Given the description of an element on the screen output the (x, y) to click on. 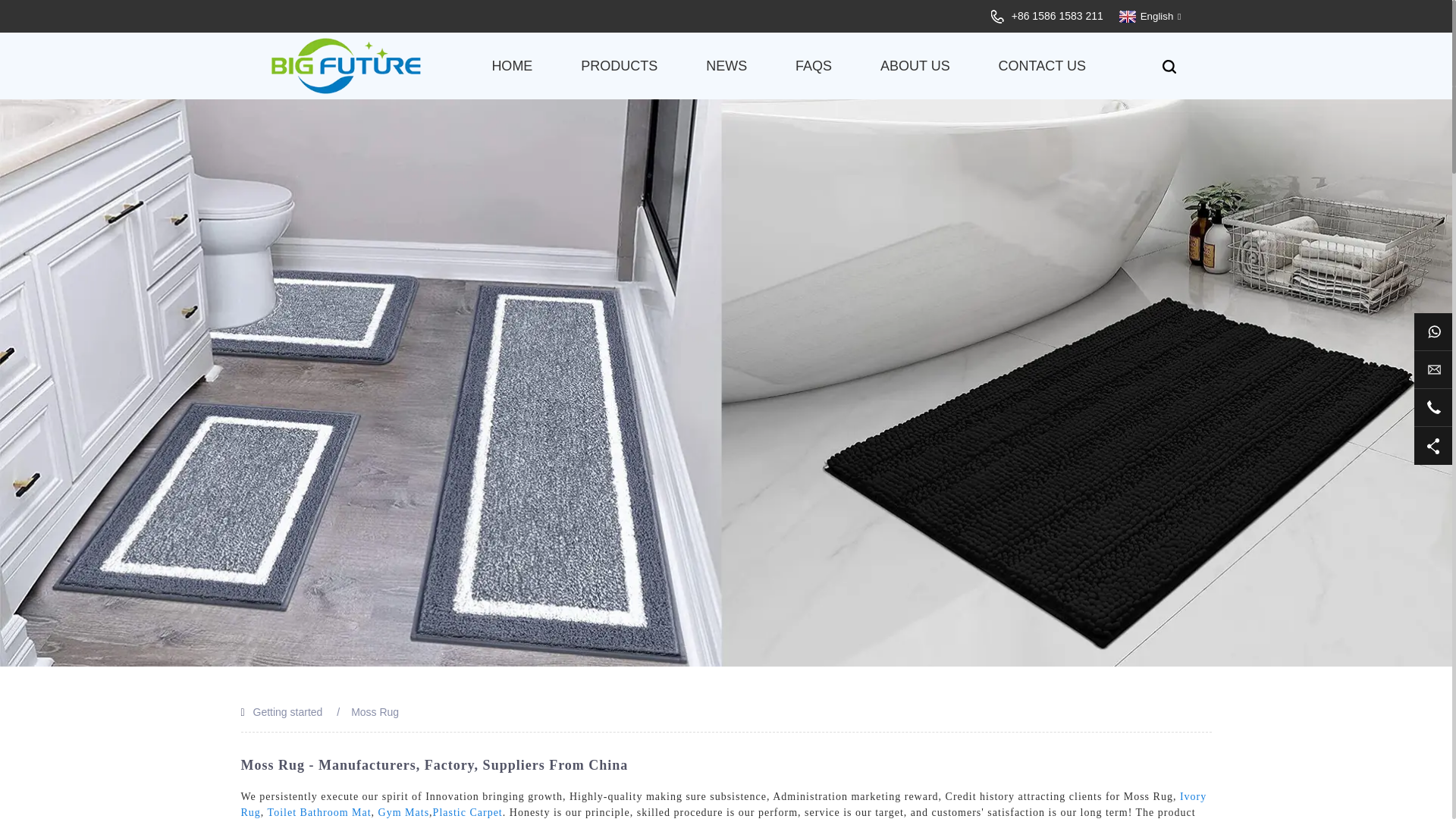
HOME (511, 65)
Ivory Rug (724, 804)
Plastic Carpet (467, 812)
Gym Mats (403, 812)
Toilet Bathroom Mat (319, 812)
Moss Rug (374, 711)
NEWS (726, 65)
Plastic Carpet (467, 812)
ABOUT US (914, 65)
Gym Mats (403, 812)
